Given the description of an element on the screen output the (x, y) to click on. 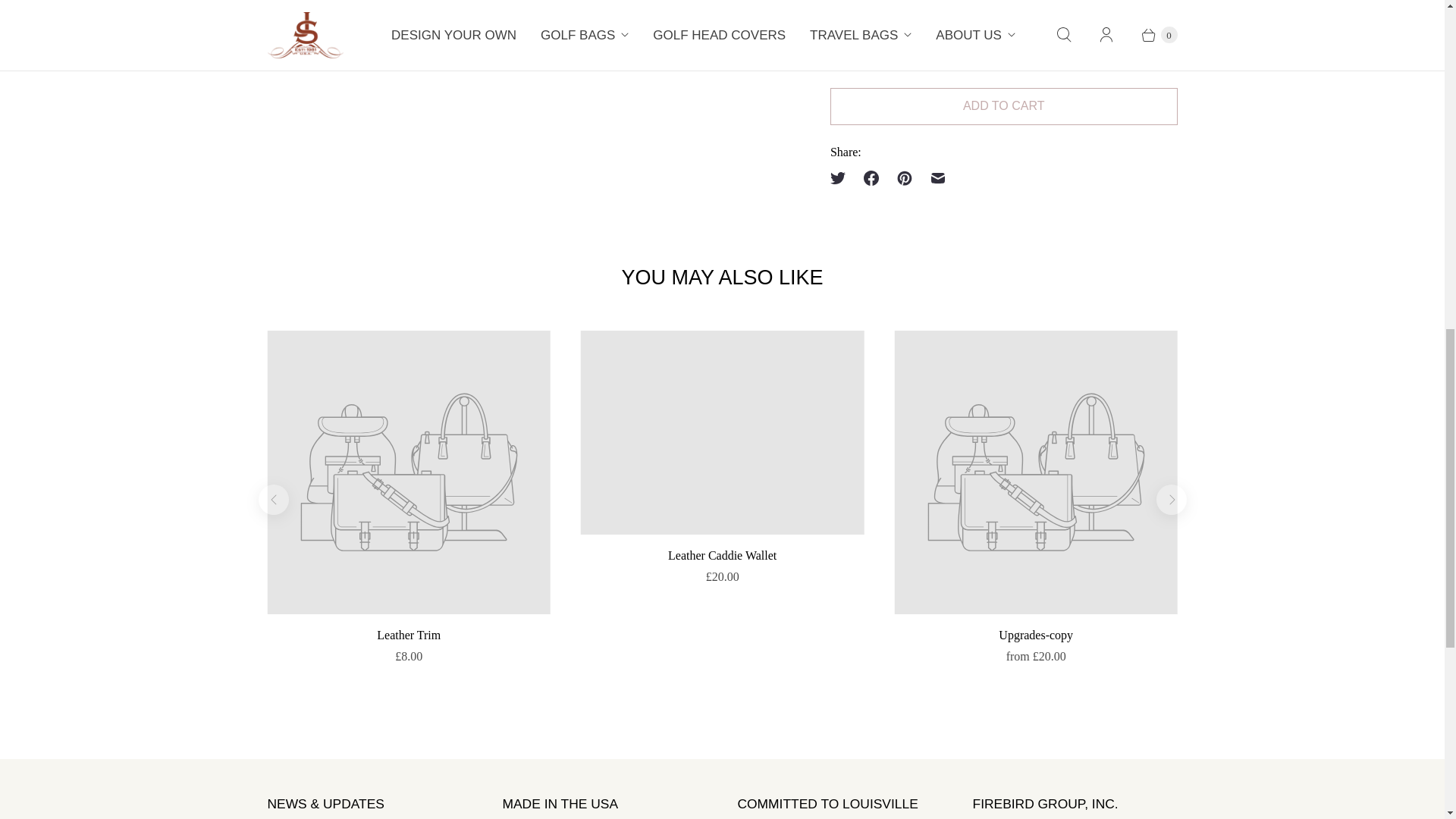
Share this on Pinterest (904, 177)
Email this to a friend (938, 177)
Share this on Facebook (871, 177)
